Given the description of an element on the screen output the (x, y) to click on. 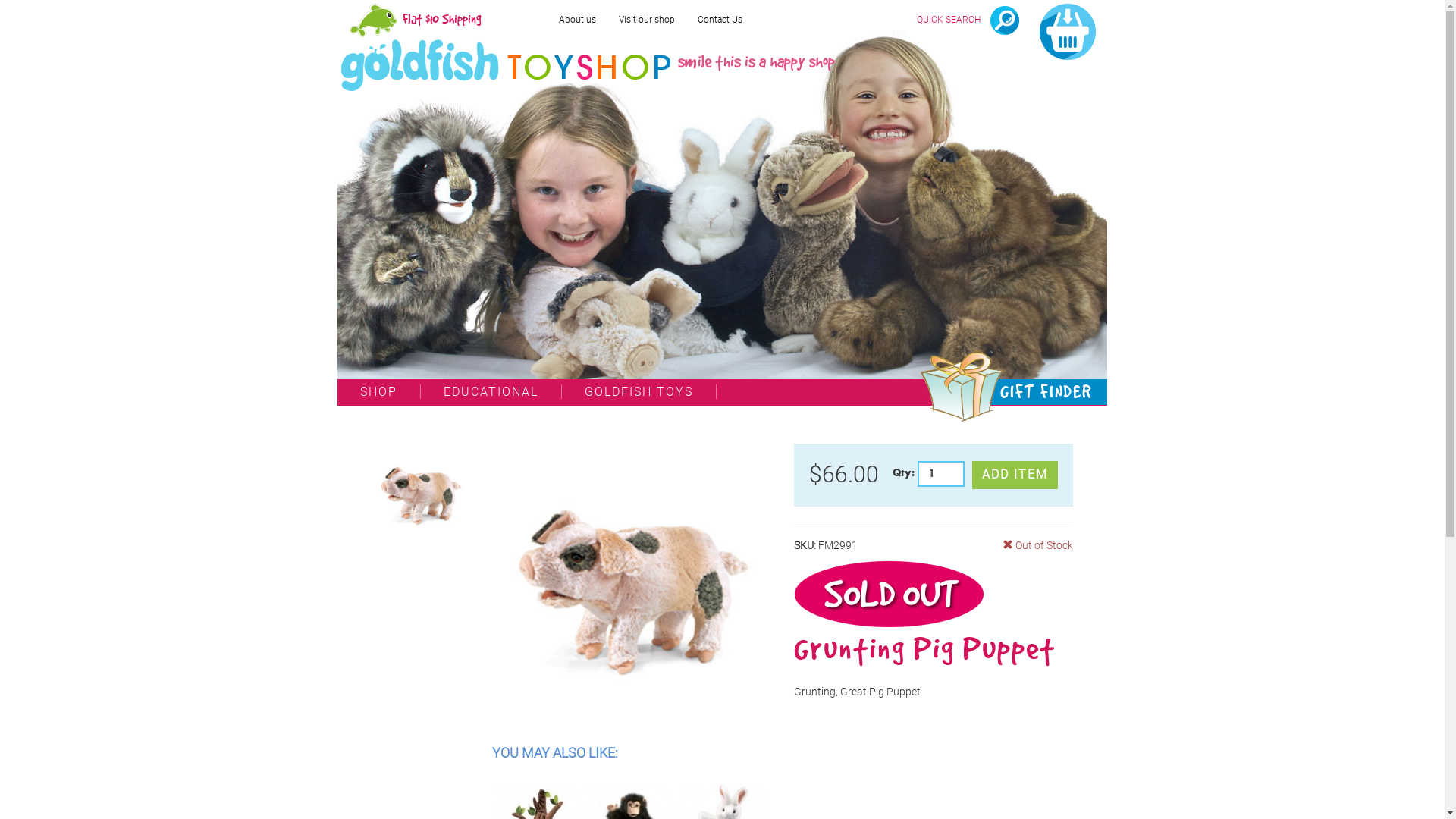
QUICK SEARCH Element type: text (967, 19)
About us Element type: text (577, 19)
Visit our shop Element type: text (646, 19)
GIFT FINDER Element type: text (1034, 391)
EDUCATIONAL Element type: text (490, 391)
ADD ITEM Element type: text (1014, 475)
Contact Us Element type: text (719, 19)
This product is sold out Element type: hover (889, 594)
GOLDFISH TOYS Element type: text (638, 391)
SHOP Element type: text (378, 391)
